Given the description of an element on the screen output the (x, y) to click on. 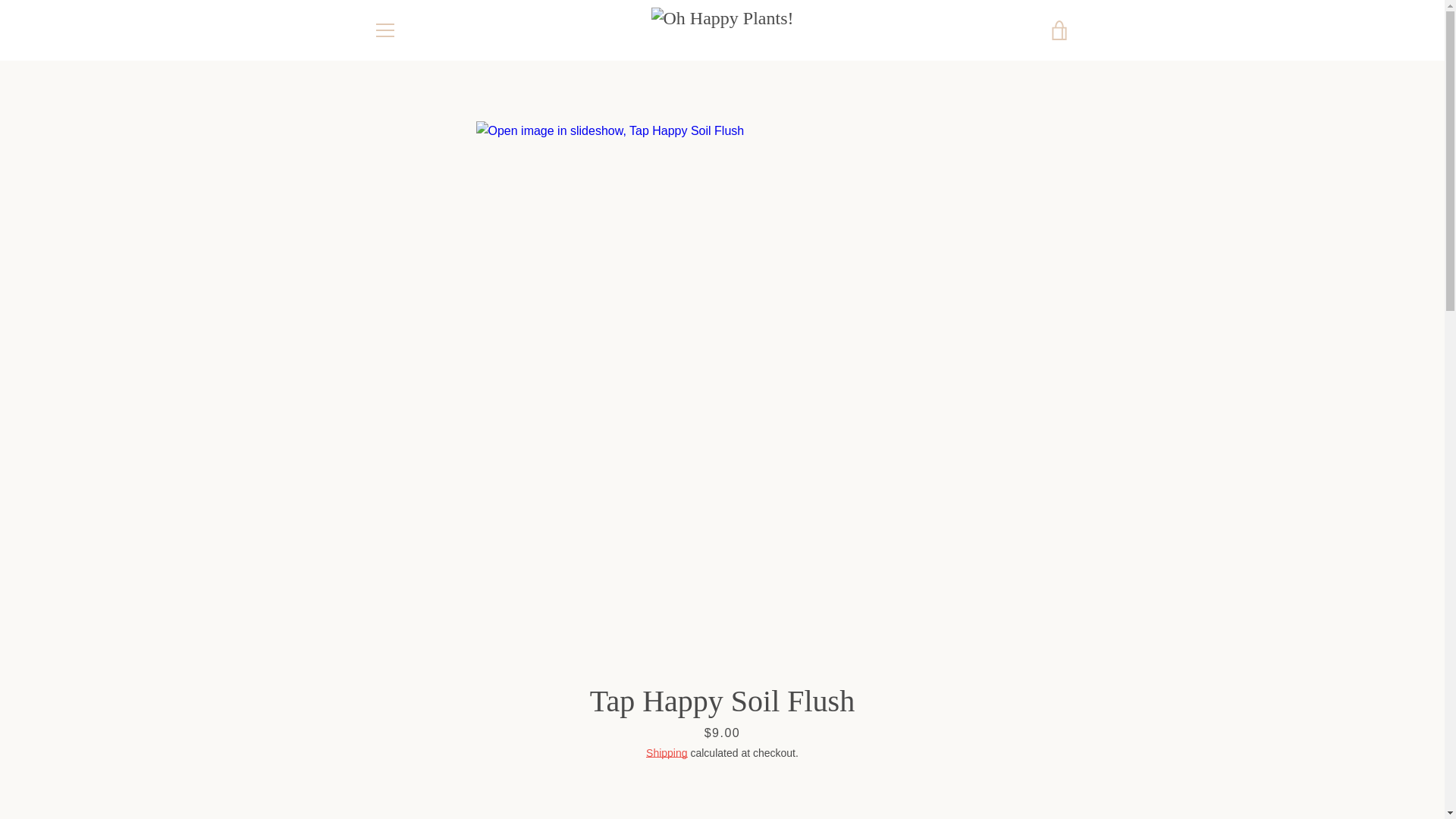
Shipping (666, 752)
MENU (384, 30)
VIEW CART (1059, 30)
